Given the description of an element on the screen output the (x, y) to click on. 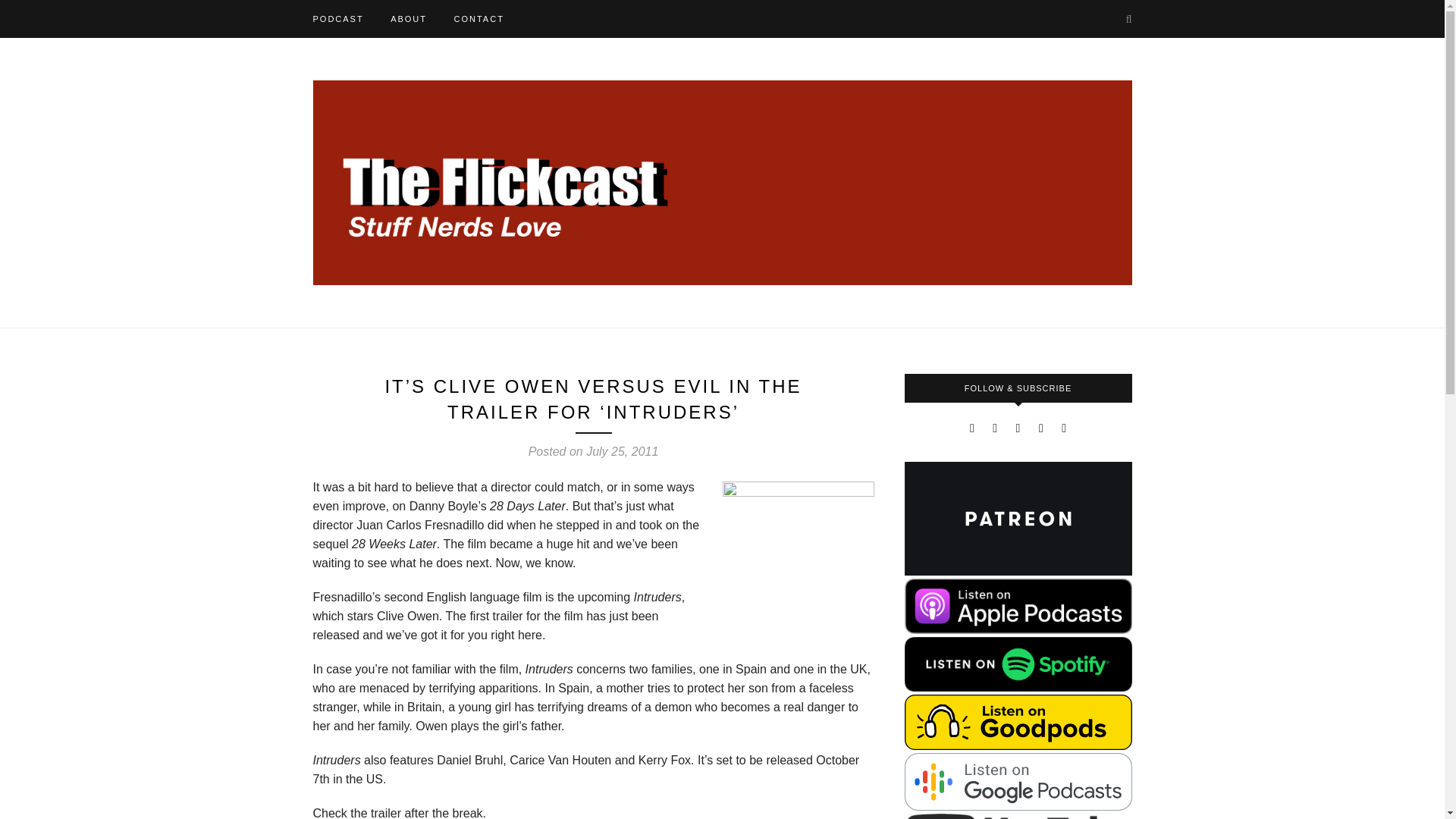
ABOUT (408, 18)
CONTACT (477, 18)
PODCAST (337, 18)
Intruders-Clive-Owen (797, 557)
